Given the description of an element on the screen output the (x, y) to click on. 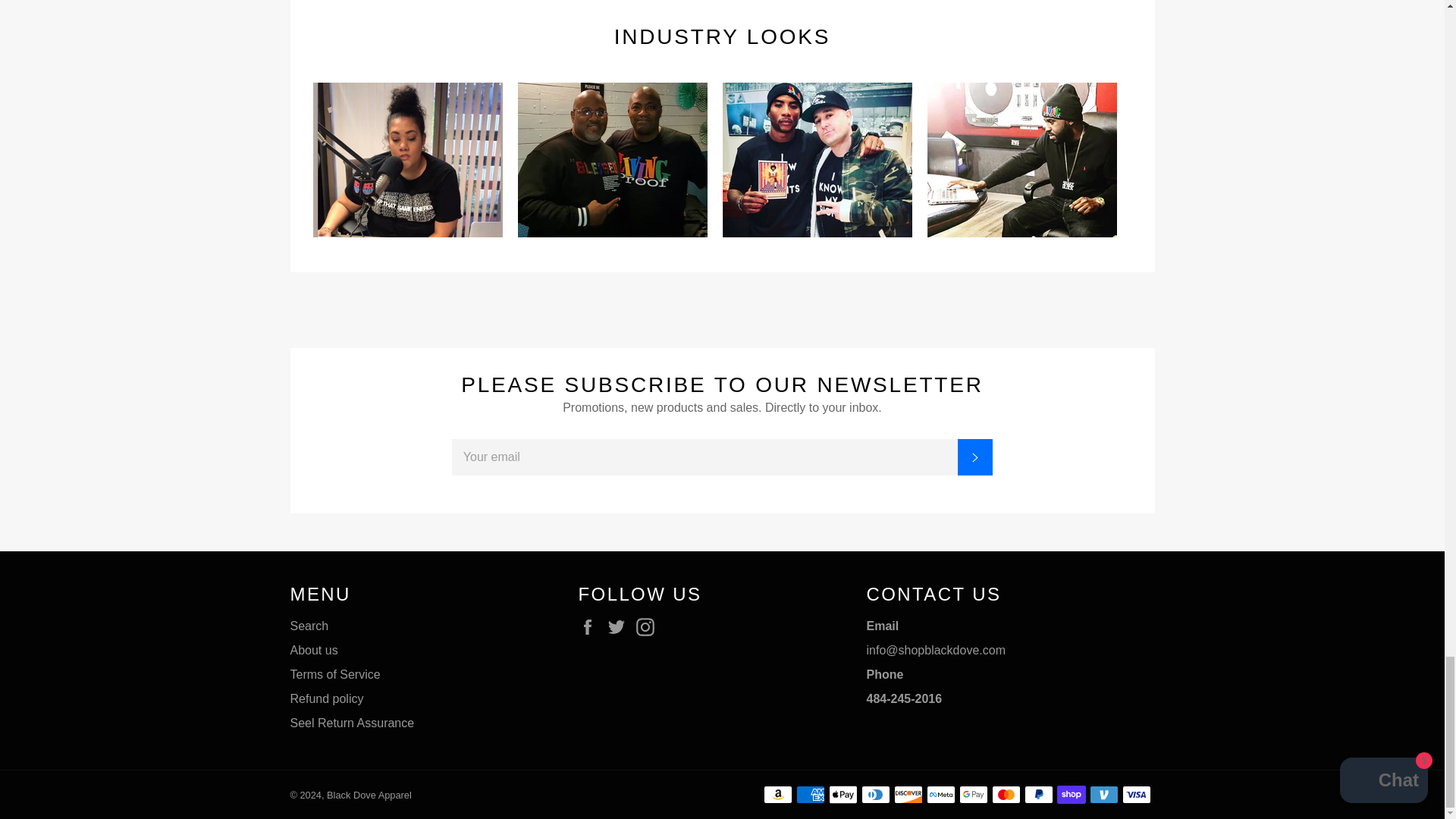
Black Dove Apparel  on Twitter (620, 627)
Black Dove Apparel  on Facebook (591, 627)
Black Dove Apparel  on Instagram (649, 627)
